Given the description of an element on the screen output the (x, y) to click on. 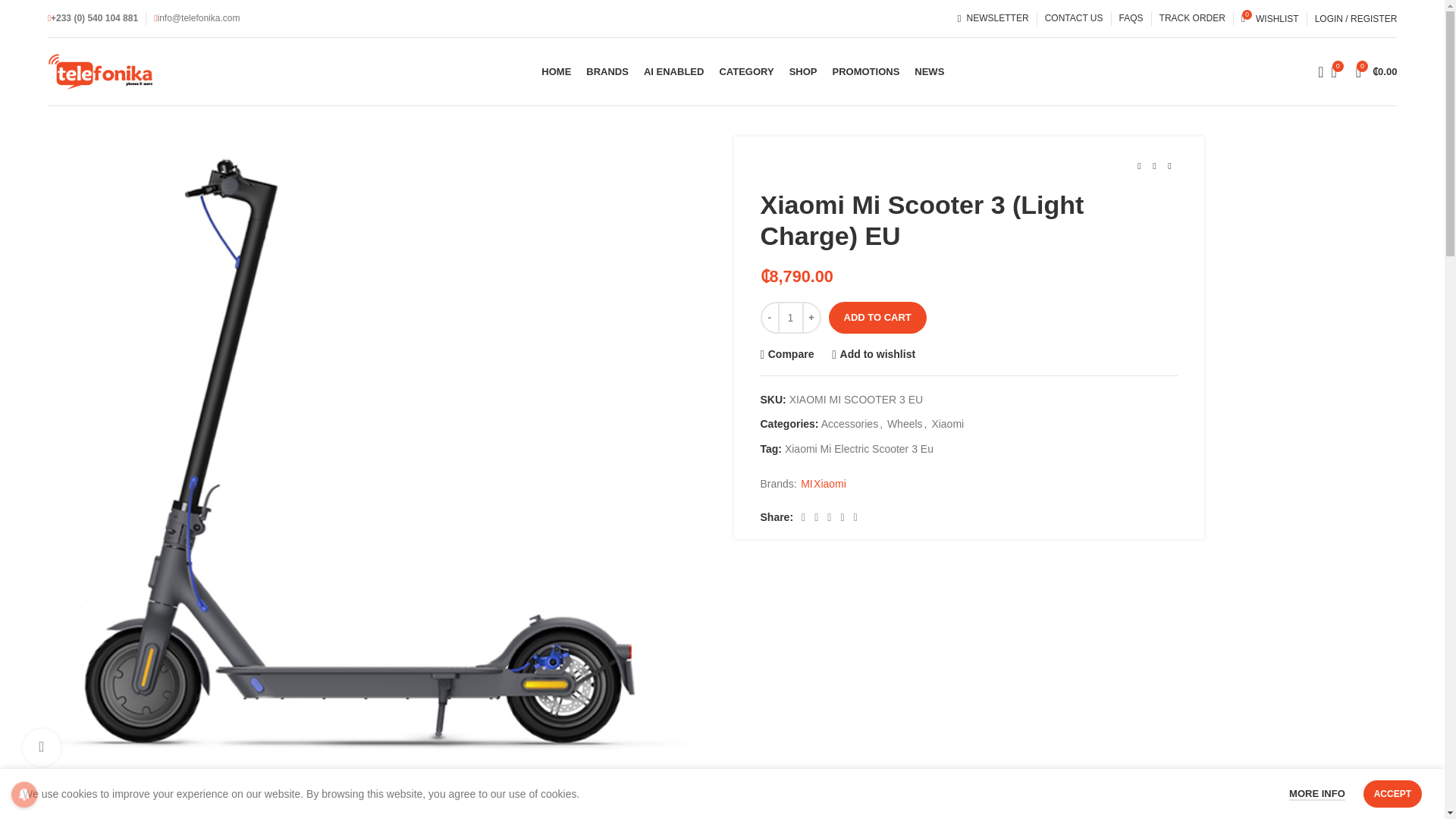
1 (790, 317)
NEWSLETTER (993, 18)
CATEGORY (746, 71)
Compare (786, 354)
ADD TO CART (877, 317)
Accessories (849, 423)
AI ENABLED (1269, 18)
PROMOTIONS (673, 71)
Xiaomi (865, 71)
SHOP (947, 423)
Search (802, 71)
Shopping cart (1315, 71)
View brand (1376, 71)
